Given the description of an element on the screen output the (x, y) to click on. 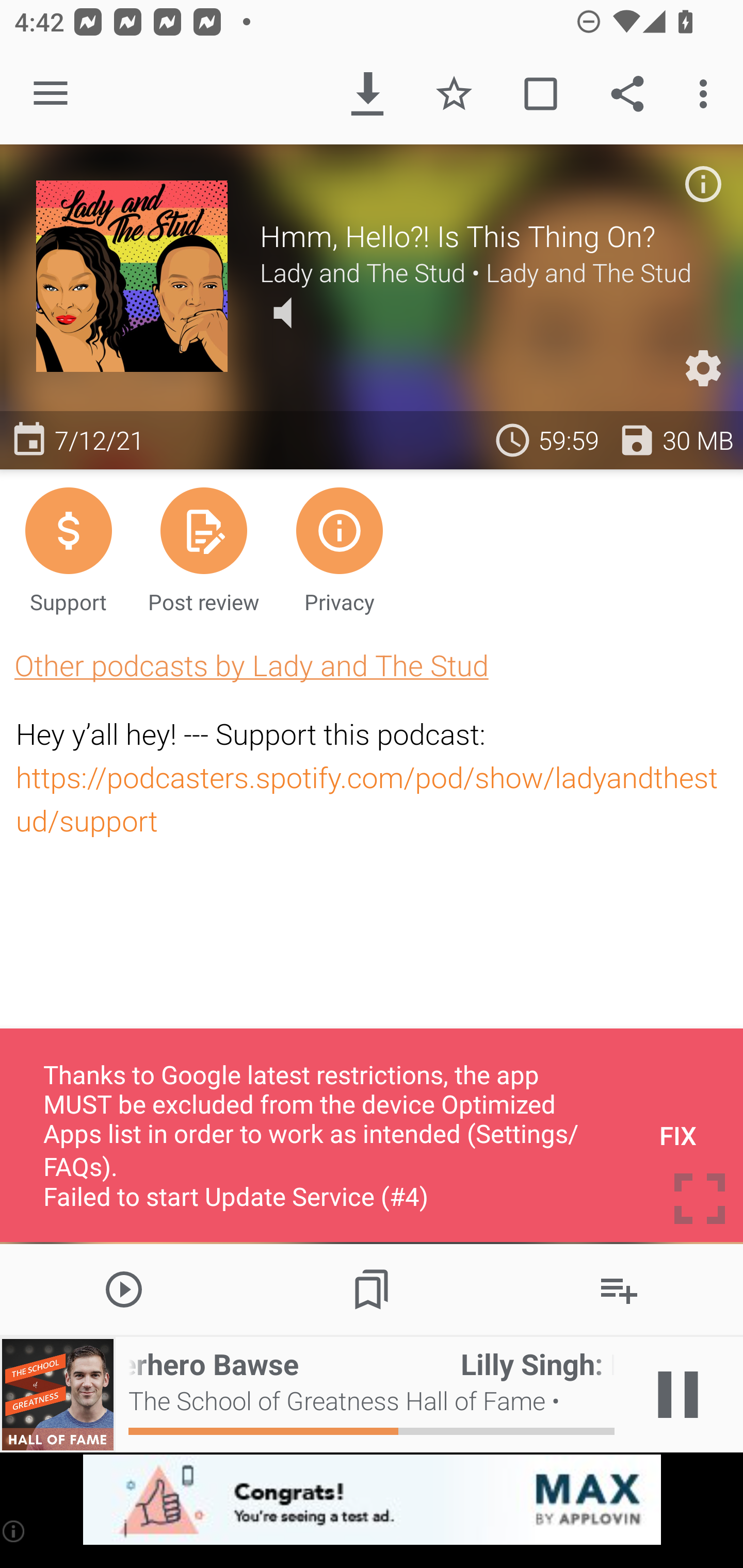
Open navigation sidebar (50, 93)
Download (366, 93)
Favorite (453, 93)
Mark played / unplayed (540, 93)
Share (626, 93)
More options (706, 93)
Podcast description (703, 184)
Hmm, Hello?! Is This Thing On? (483, 235)
Custom Settings (703, 368)
Support (68, 549)
Post review (203, 549)
Privacy (339, 549)
Other podcasts by Lady and The Stud (251, 665)
FIX (677, 1135)
Toggle full screen mode (699, 1198)
Play (123, 1288)
Chapters / Bookmarks (371, 1288)
Add to Playlist (619, 1288)
Play / Pause (677, 1394)
app-monetization (371, 1500)
(i) (14, 1531)
